Given the description of an element on the screen output the (x, y) to click on. 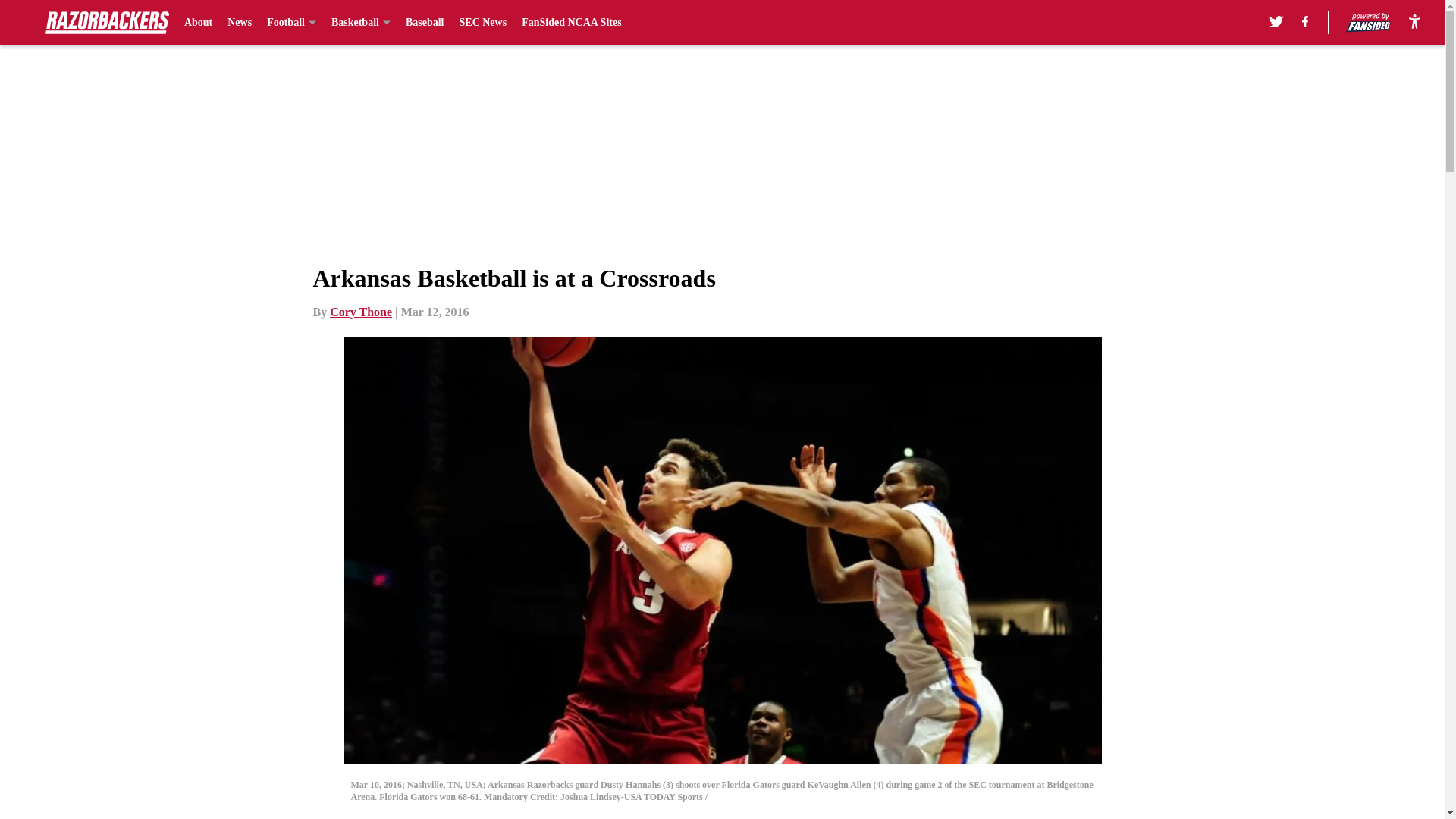
News (239, 22)
Cory Thone (360, 311)
Baseball (425, 22)
About (198, 22)
SEC News (483, 22)
FanSided NCAA Sites (571, 22)
